Given the description of an element on the screen output the (x, y) to click on. 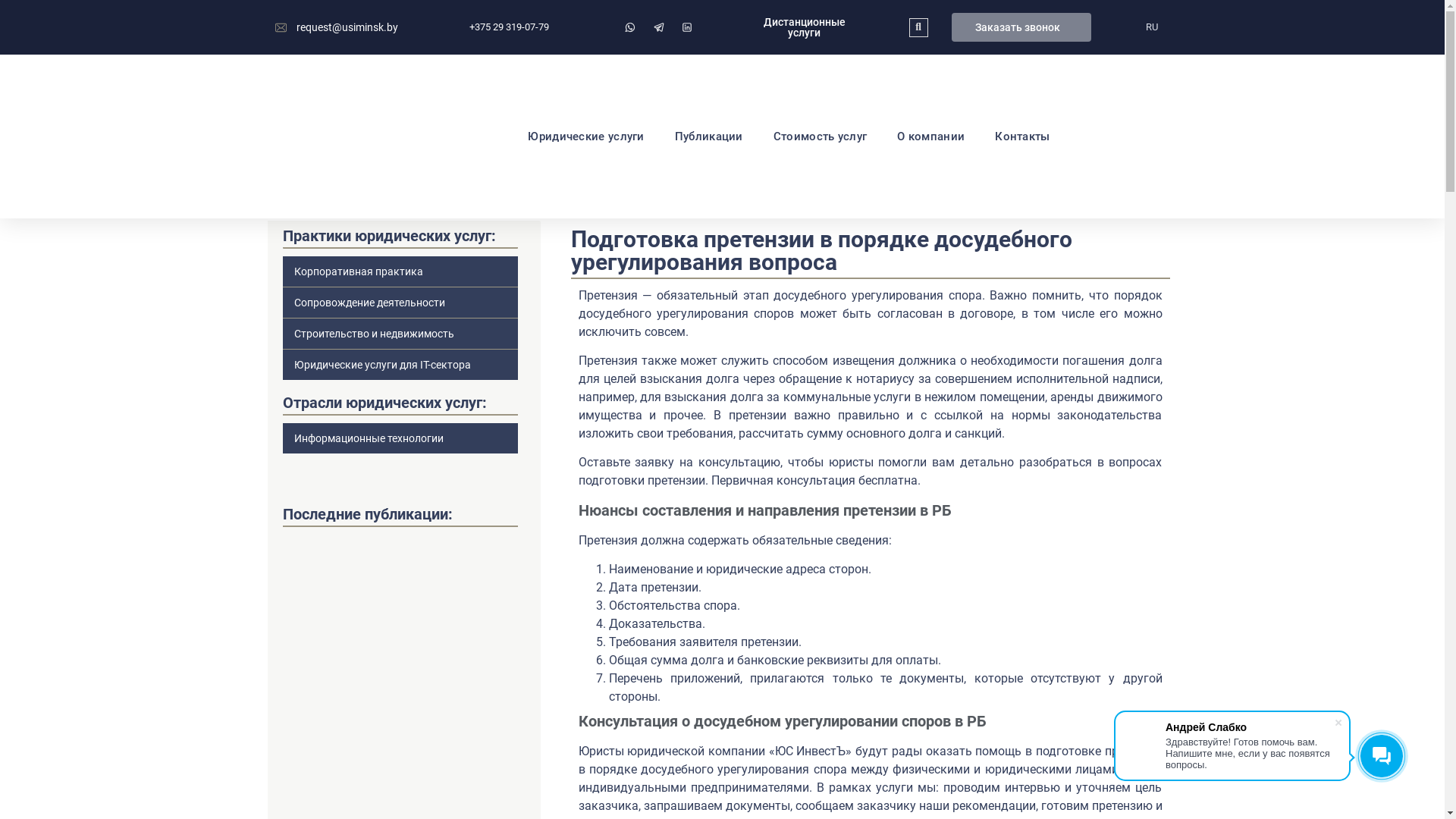
+375 29 319-07-79 Element type: text (508, 26)
RU Element type: text (1150, 26)
request@usiminsk.by Element type: text (336, 27)
